Given the description of an element on the screen output the (x, y) to click on. 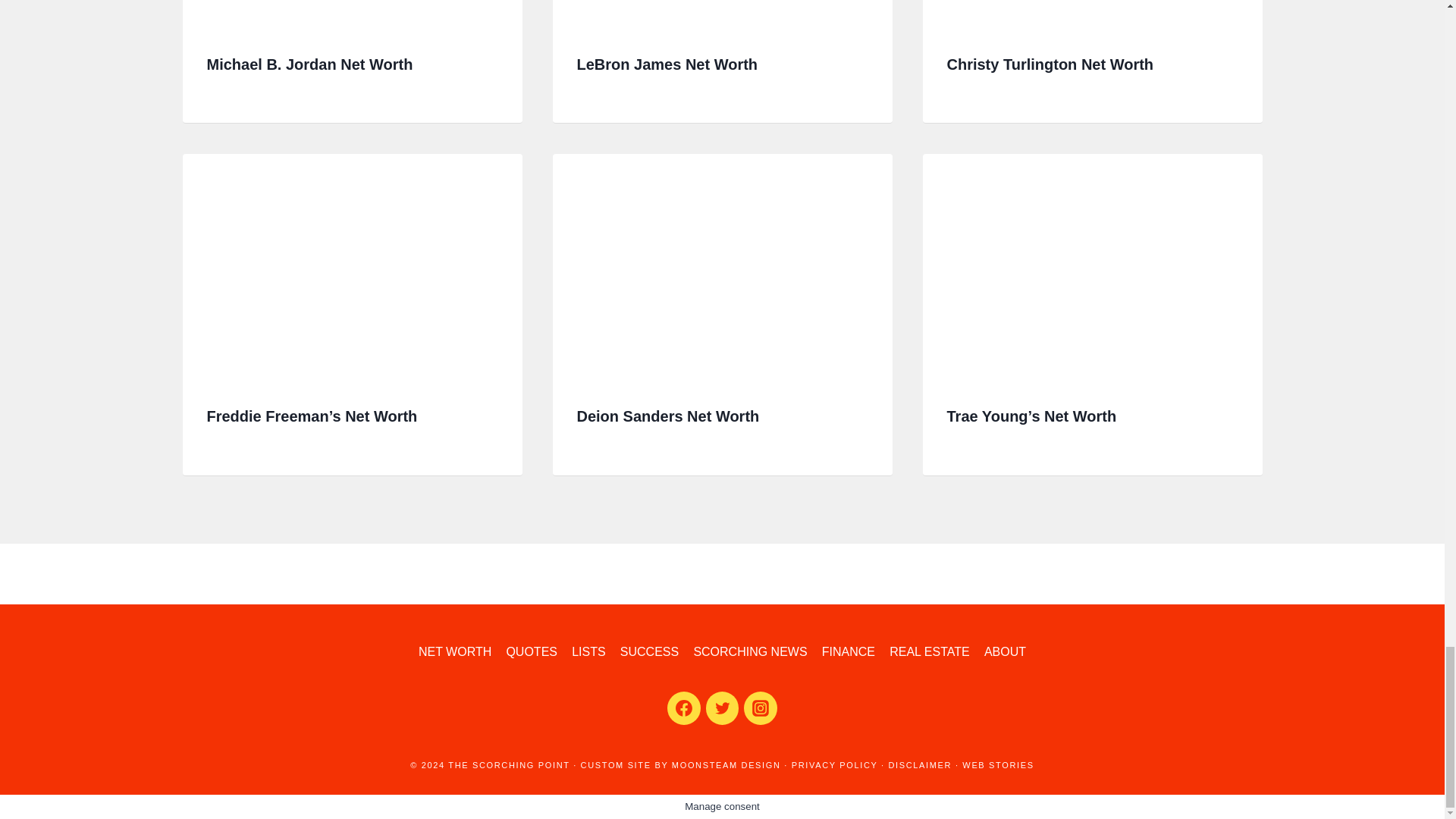
Michael B. Jordan Net Worth (309, 64)
